Given the description of an element on the screen output the (x, y) to click on. 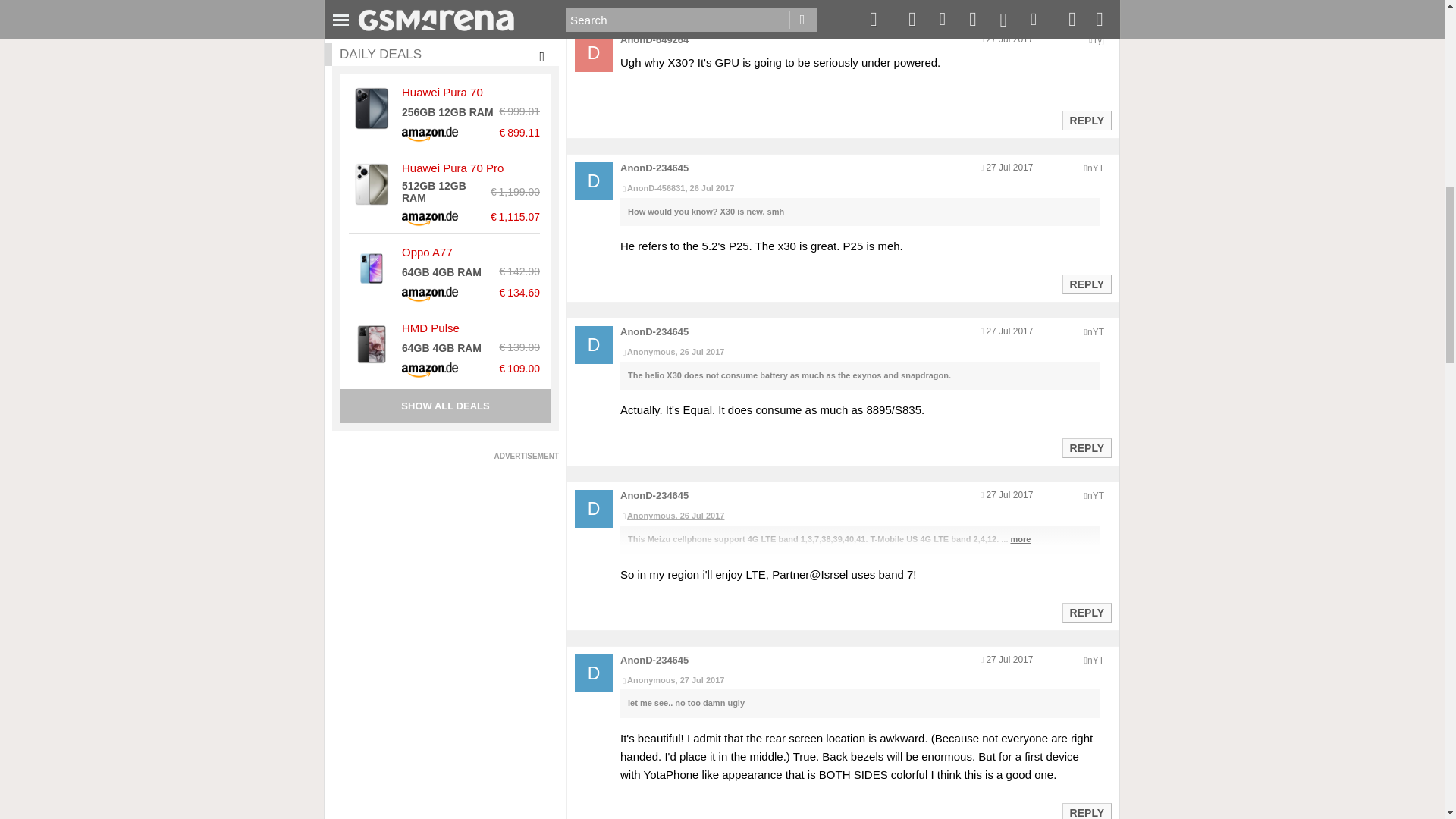
Reply to this post (1086, 284)
Reply to this post (1086, 120)
Encoded anonymized location (1095, 167)
Reply to this post (1086, 448)
Encoded anonymized location (1095, 660)
Encoded anonymized location (1095, 331)
Encoded anonymized location (1095, 495)
Reply to this post (1086, 612)
Encoded anonymized location (1098, 40)
